Given the description of an element on the screen output the (x, y) to click on. 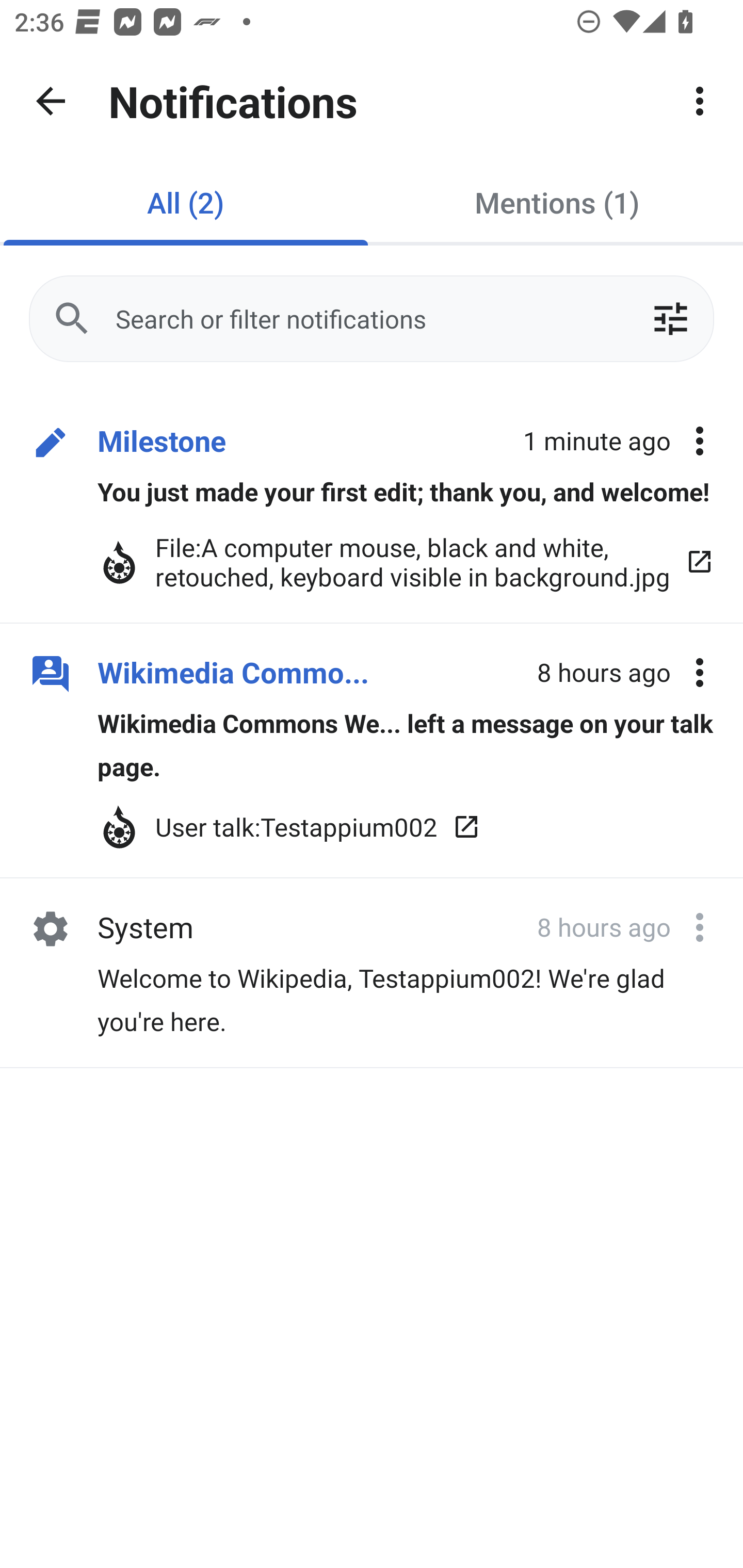
Navigate up (50, 101)
More (699, 101)
Mentions (1) (557, 202)
Notification filter (670, 318)
More options (699, 441)
More options (699, 672)
More options (699, 927)
